Given the description of an element on the screen output the (x, y) to click on. 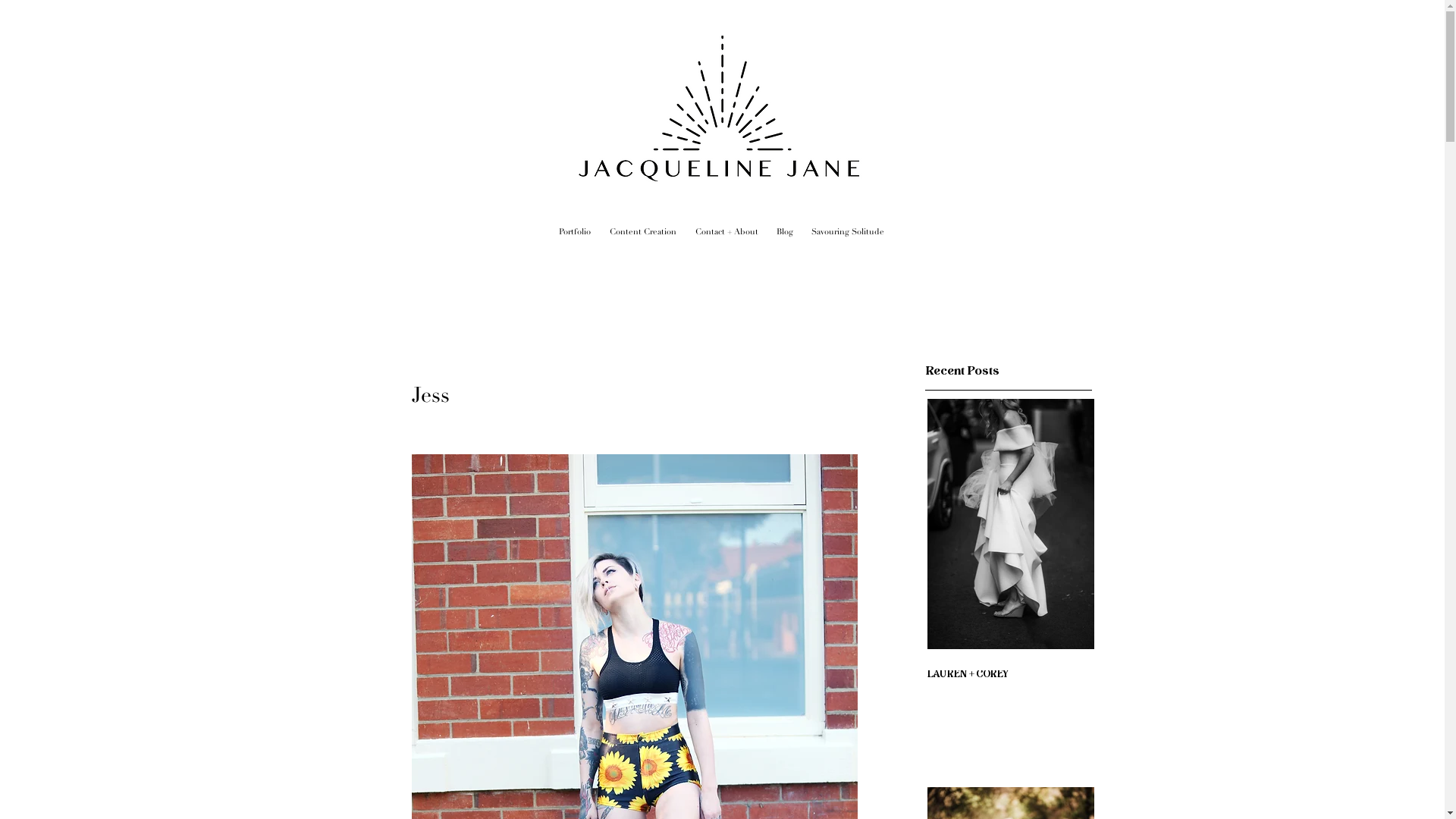
Blog Element type: text (784, 231)
LAUREN + COREY Element type: text (1009, 674)
Contact + About Element type: text (725, 231)
Portfolio Element type: text (574, 231)
Savouring Solitude Element type: text (847, 231)
Content Creation Element type: text (643, 231)
